Given the description of an element on the screen output the (x, y) to click on. 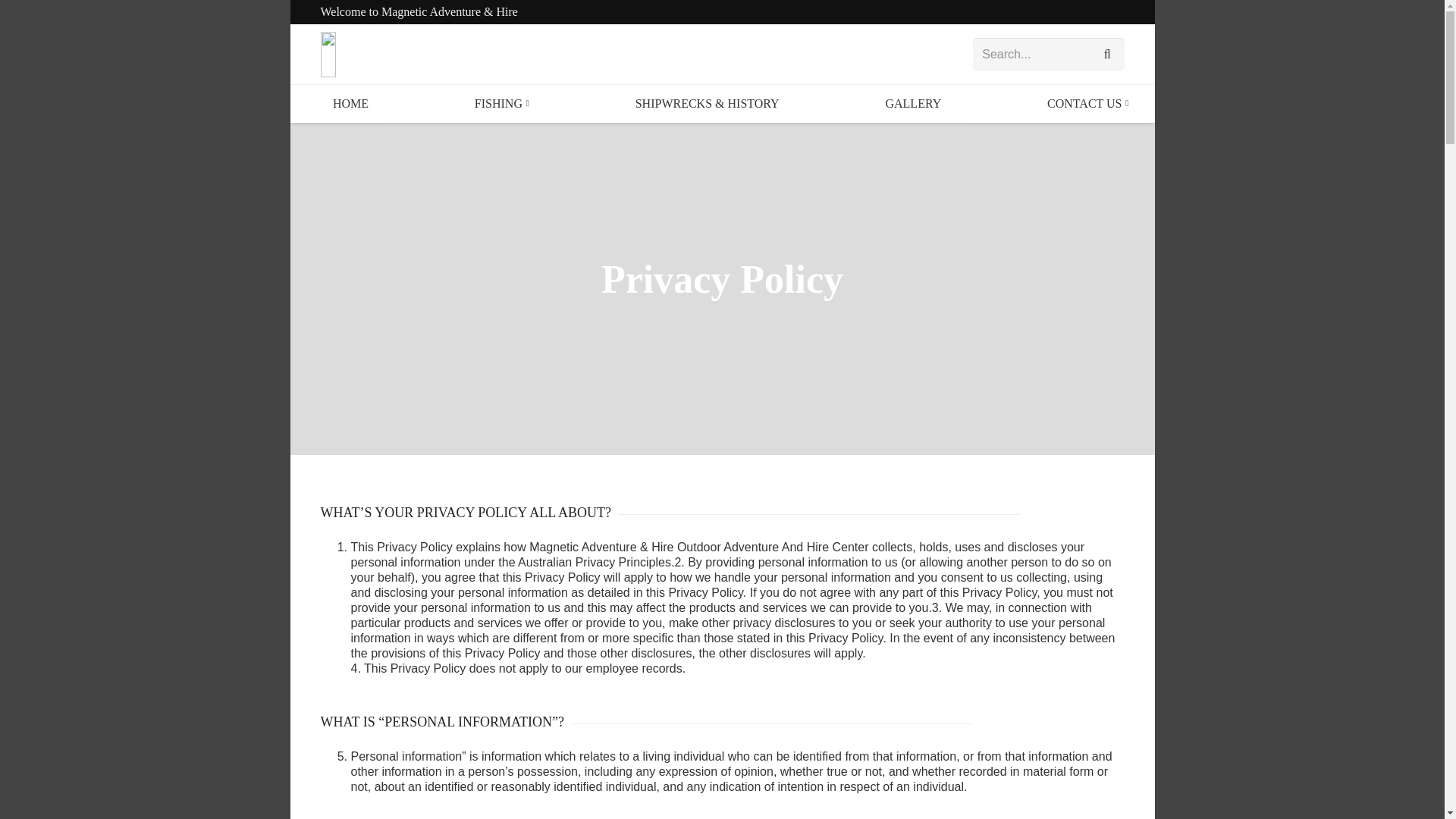
HOME (349, 103)
CONTACT US (1087, 103)
FISHING (502, 103)
GALLERY (913, 103)
